Given the description of an element on the screen output the (x, y) to click on. 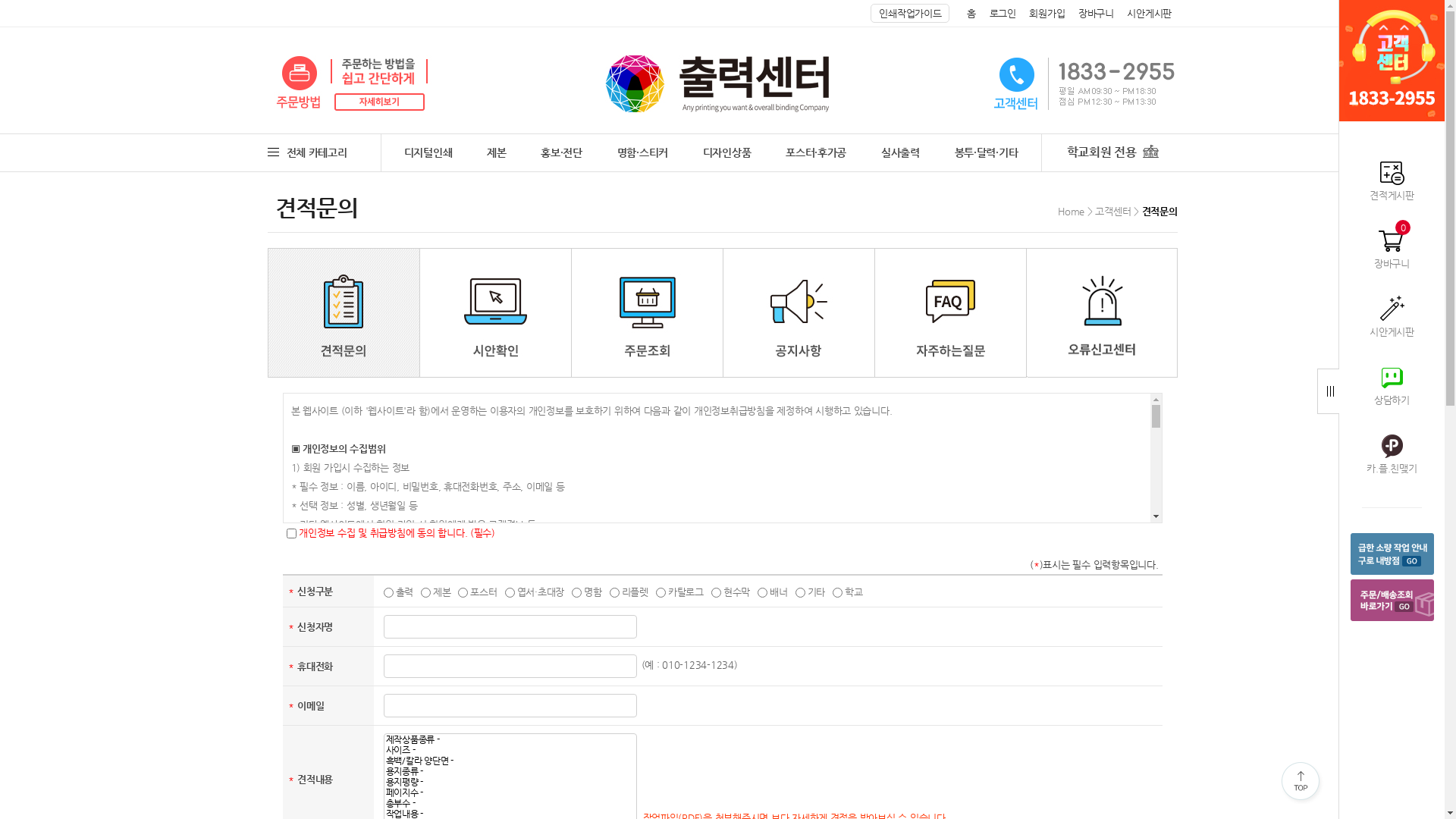
Home Element type: text (1070, 210)
